Given the description of an element on the screen output the (x, y) to click on. 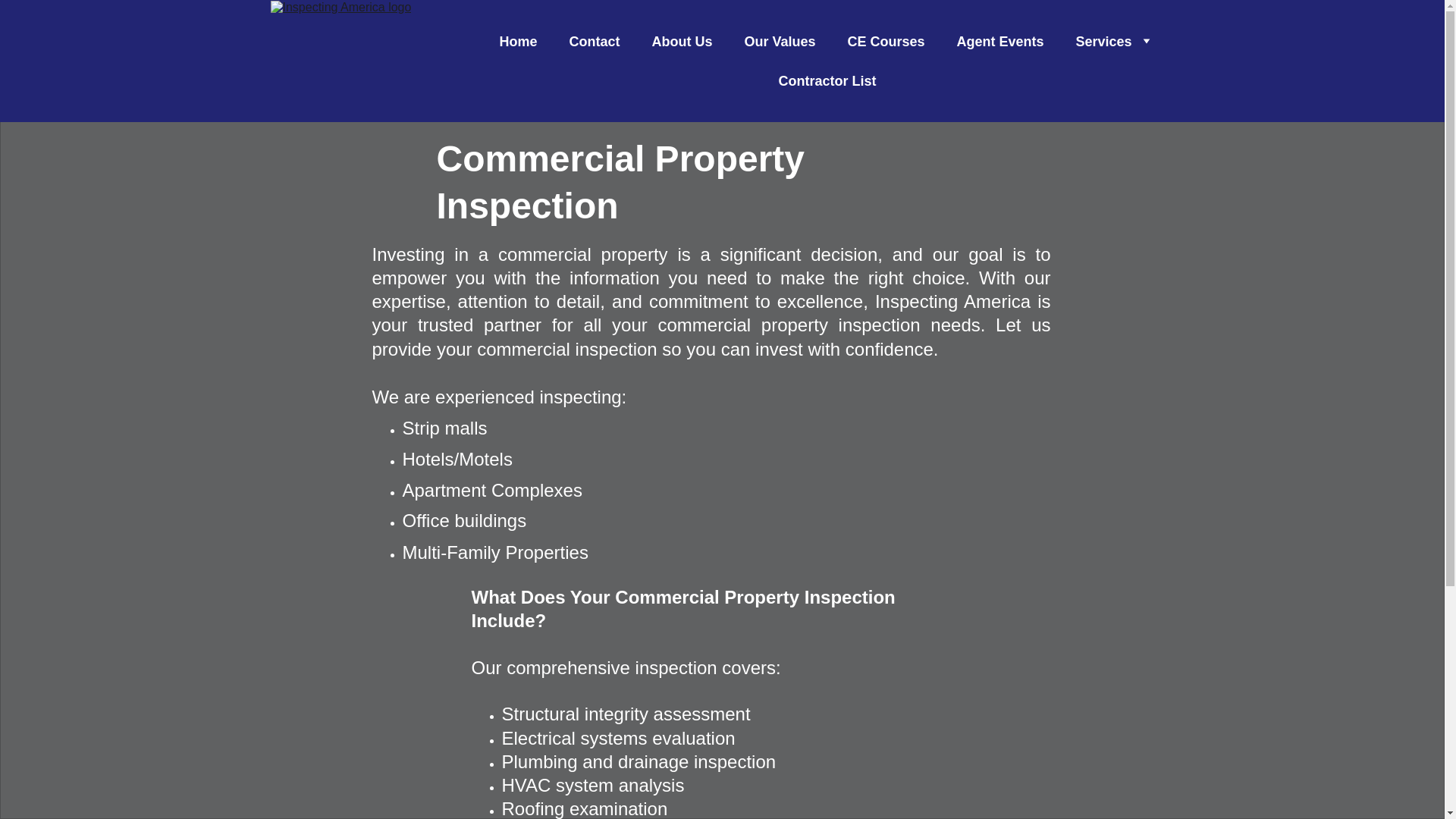
Agent Events (999, 40)
CE Courses (885, 40)
Home (518, 40)
Our Values (779, 40)
Contractor List (826, 80)
About Us (680, 40)
Contact (594, 40)
